Given the description of an element on the screen output the (x, y) to click on. 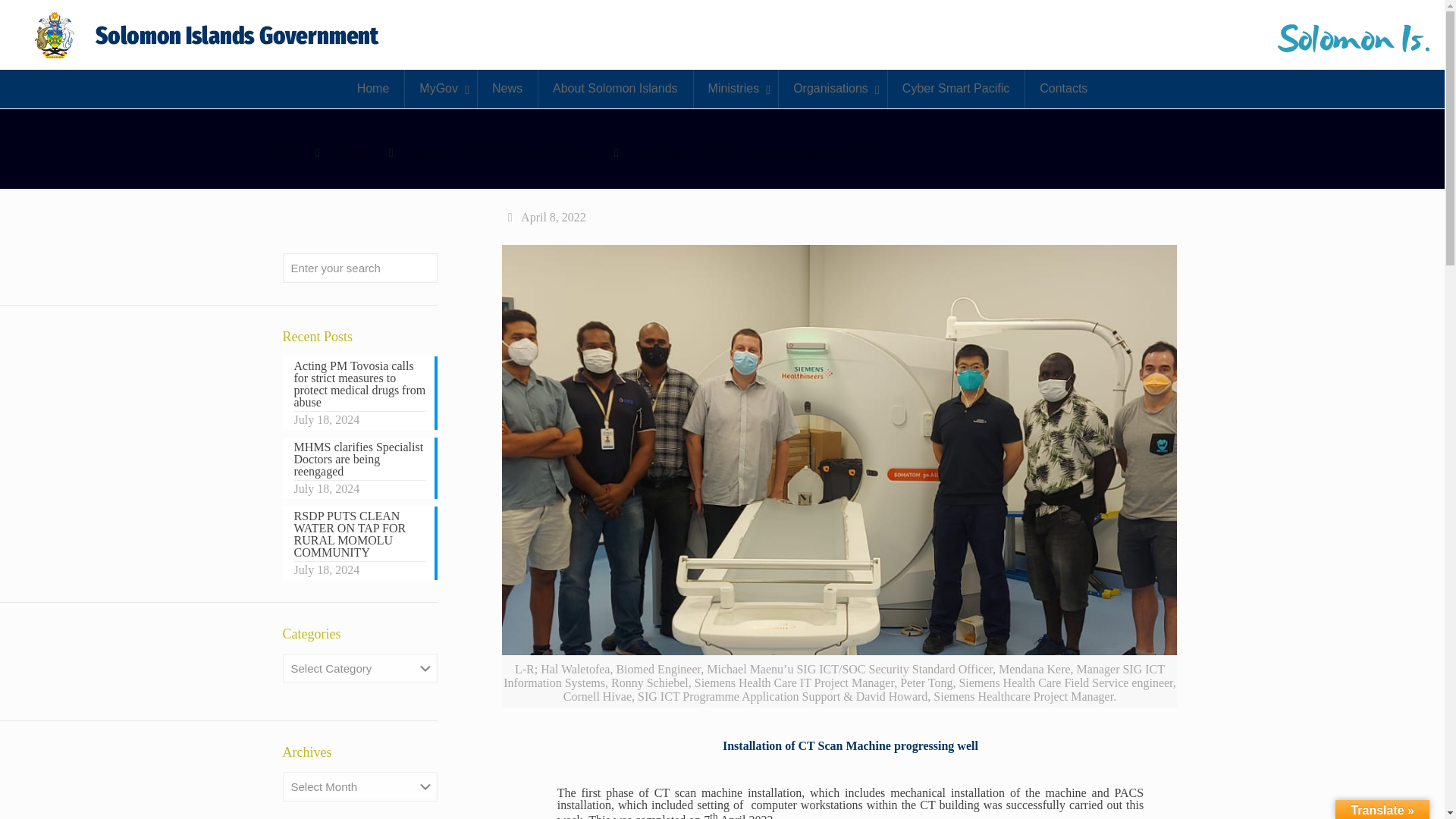
MyGov (440, 88)
News (507, 88)
Organisations (831, 88)
Ministries (735, 88)
Home (373, 88)
About Solomon Islands (615, 88)
My SIG Services Portal (208, 34)
